Given the description of an element on the screen output the (x, y) to click on. 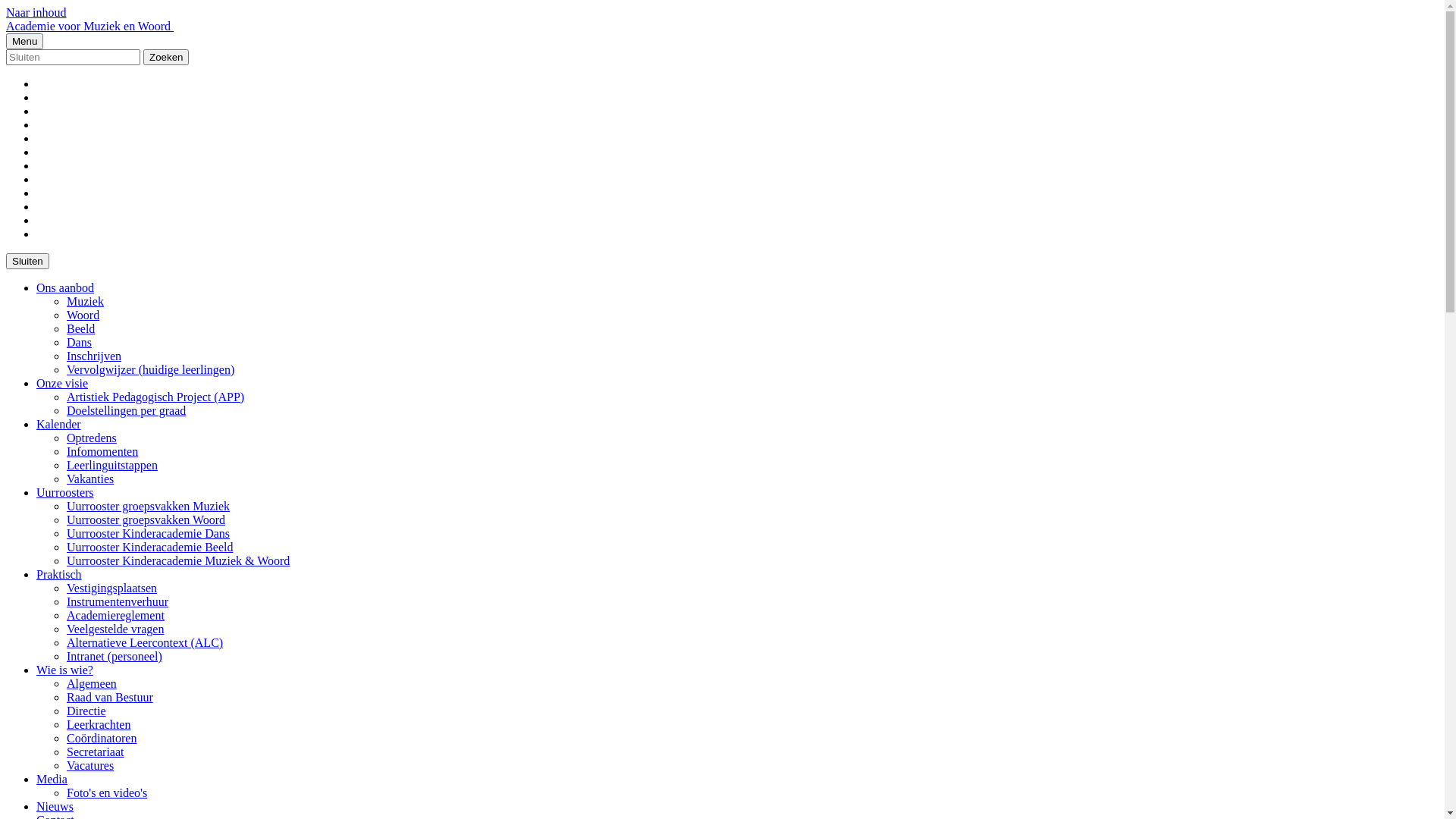
Kalender Element type: text (58, 423)
Beeld Element type: text (80, 328)
Intranet (personeel) Element type: text (114, 655)
Inschrijven Element type: text (93, 355)
Onze visie Element type: text (61, 382)
Ons aanbod Element type: text (65, 287)
Foto's en video's Element type: text (106, 792)
Uurrooster groepsvakken Woord Element type: text (145, 519)
Algemeen Element type: text (91, 683)
Optredens Element type: text (91, 437)
Uurrooster Kinderacademie Beeld Element type: text (149, 546)
Uurroosters Element type: text (65, 492)
Media Element type: text (51, 778)
Infomomenten Element type: text (102, 451)
Waarmee kunnen we jou helpen? Element type: hover (73, 57)
Vacatures Element type: text (89, 765)
Naar inhoud Element type: text (36, 12)
Woord Element type: text (82, 314)
Menu Element type: text (24, 41)
Vestigingsplaatsen Element type: text (111, 587)
Directie Element type: text (86, 710)
Zoeken Element type: text (165, 57)
Uurrooster groepsvakken Muziek Element type: text (147, 505)
Dans Element type: text (78, 341)
Raad van Bestuur Element type: text (109, 696)
Uurrooster Kinderacademie Dans Element type: text (147, 533)
Praktisch Element type: text (58, 573)
Alternatieve Leercontext (ALC) Element type: text (144, 642)
Veelgestelde vragen Element type: text (114, 628)
Uurrooster Kinderacademie Muziek & Woord Element type: text (177, 560)
Muziek Element type: text (84, 300)
Doelstellingen per graad Element type: text (125, 410)
Nieuws Element type: text (54, 806)
Academie voor Muziek en Woord Element type: text (89, 25)
Wie is wie? Element type: text (64, 669)
Artistiek Pedagogisch Project (APP) Element type: text (155, 396)
Secretariaat Element type: text (95, 751)
Sluiten Element type: text (27, 261)
Leerkrachten Element type: text (98, 724)
Instrumentenverhuur Element type: text (117, 601)
Vervolgwijzer (huidige leerlingen) Element type: text (150, 369)
Leerlinguitstappen Element type: text (111, 464)
Academiereglement Element type: text (115, 614)
Vakanties Element type: text (89, 478)
